Given the description of an element on the screen output the (x, y) to click on. 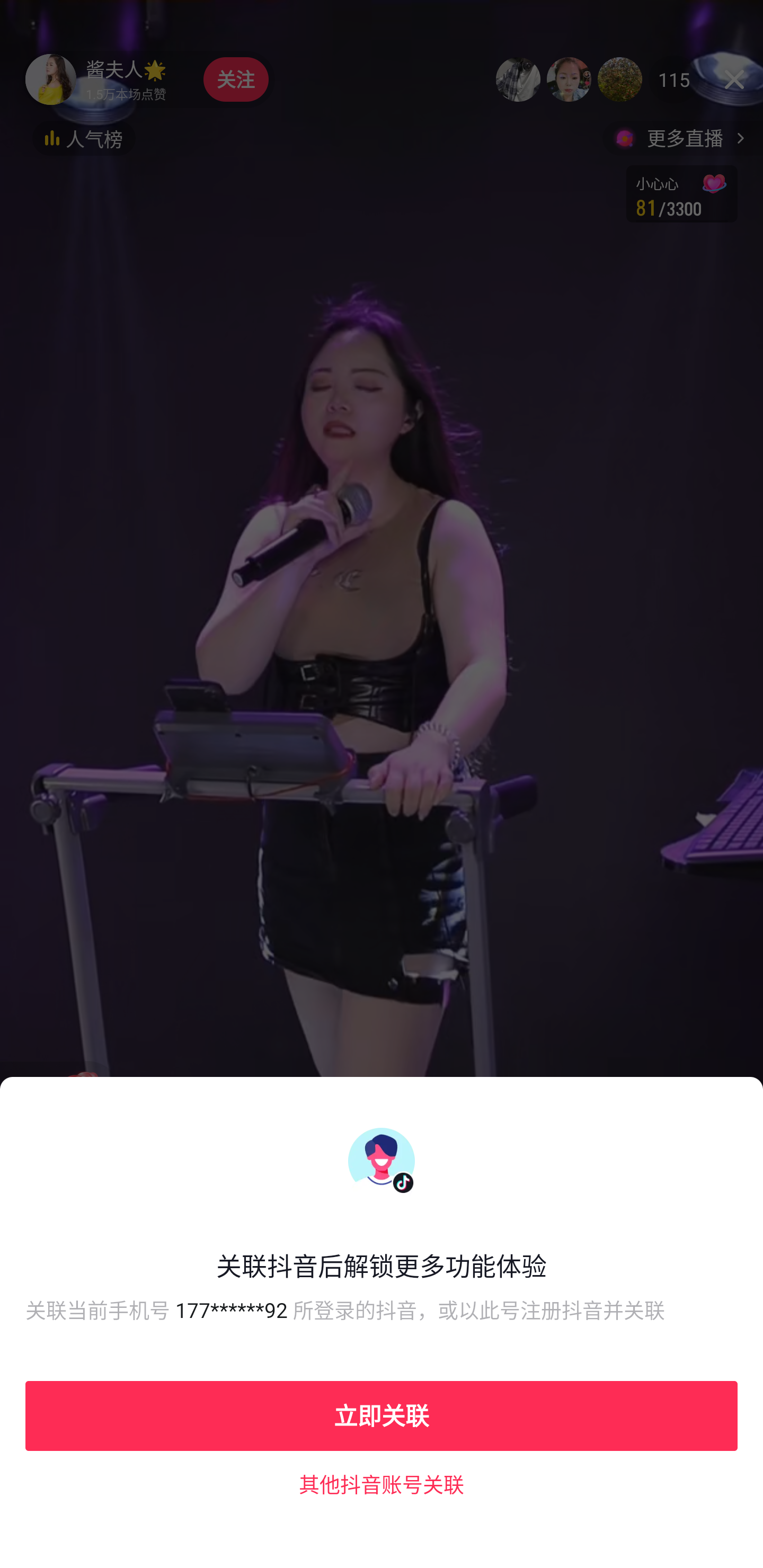
立即关联 (381, 1415)
其他抖音账号关联 (381, 1483)
